Given the description of an element on the screen output the (x, y) to click on. 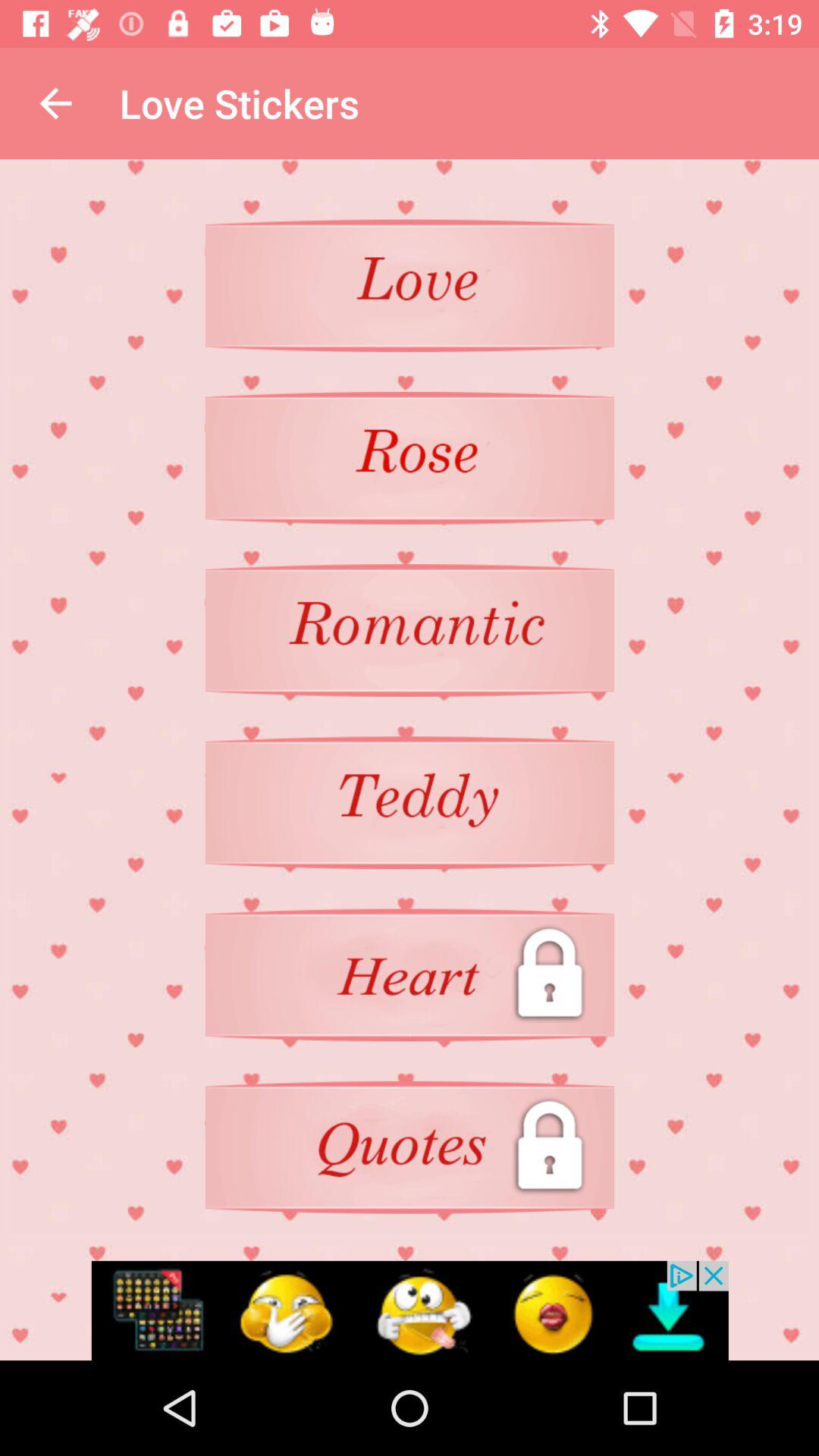
select the teddy option (409, 802)
